Given the description of an element on the screen output the (x, y) to click on. 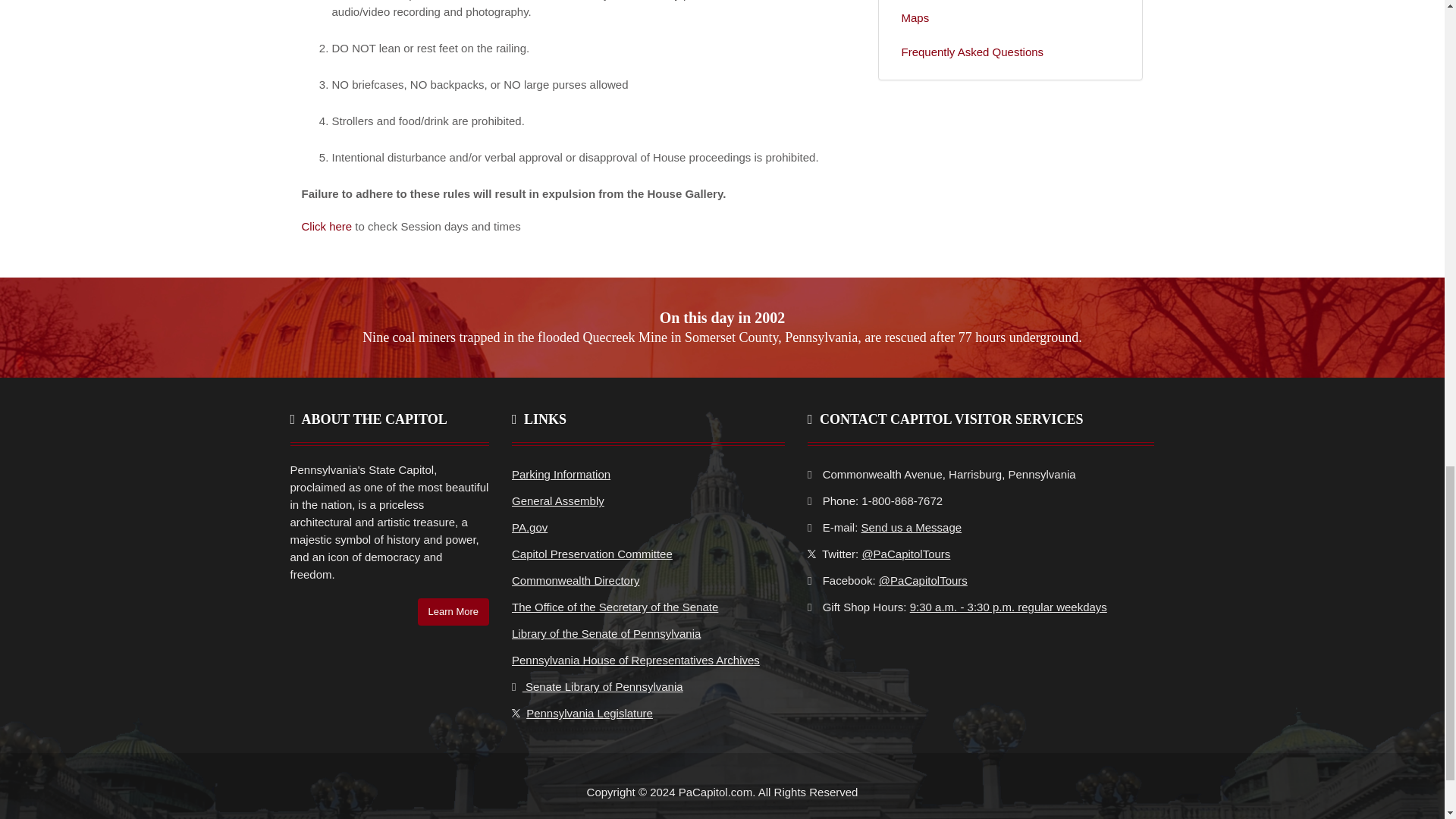
Commonwealth Directory (575, 580)
Parking Information (561, 473)
General Assembly (558, 500)
Capitol Preservation Committee (592, 553)
Learn More (453, 611)
PA.gov (529, 526)
